Given the description of an element on the screen output the (x, y) to click on. 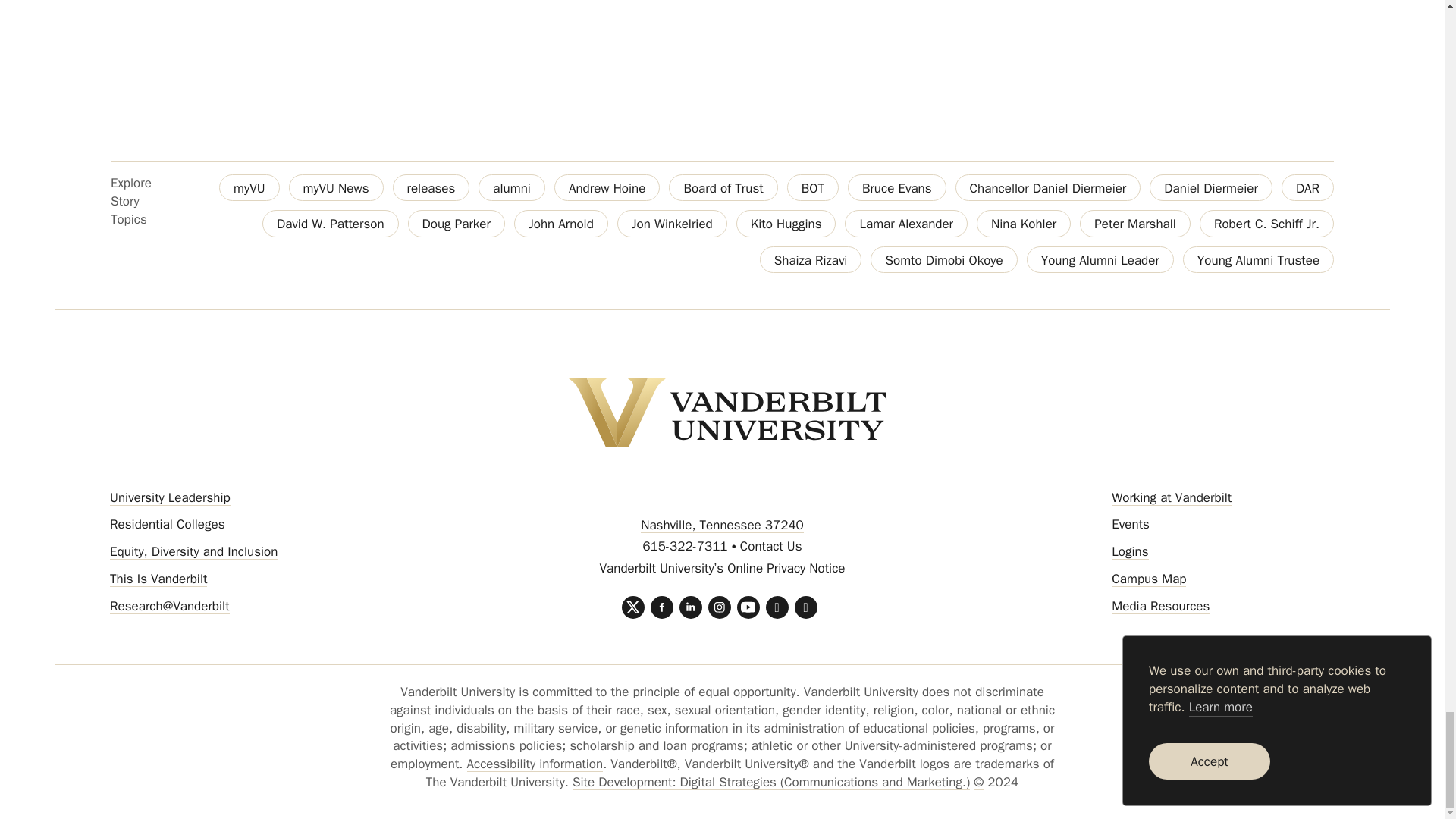
myVU News (336, 187)
Andrew Hoine (607, 187)
releases (431, 187)
alumni (511, 187)
Board of Trust (722, 187)
myVU (249, 187)
